Given the description of an element on the screen output the (x, y) to click on. 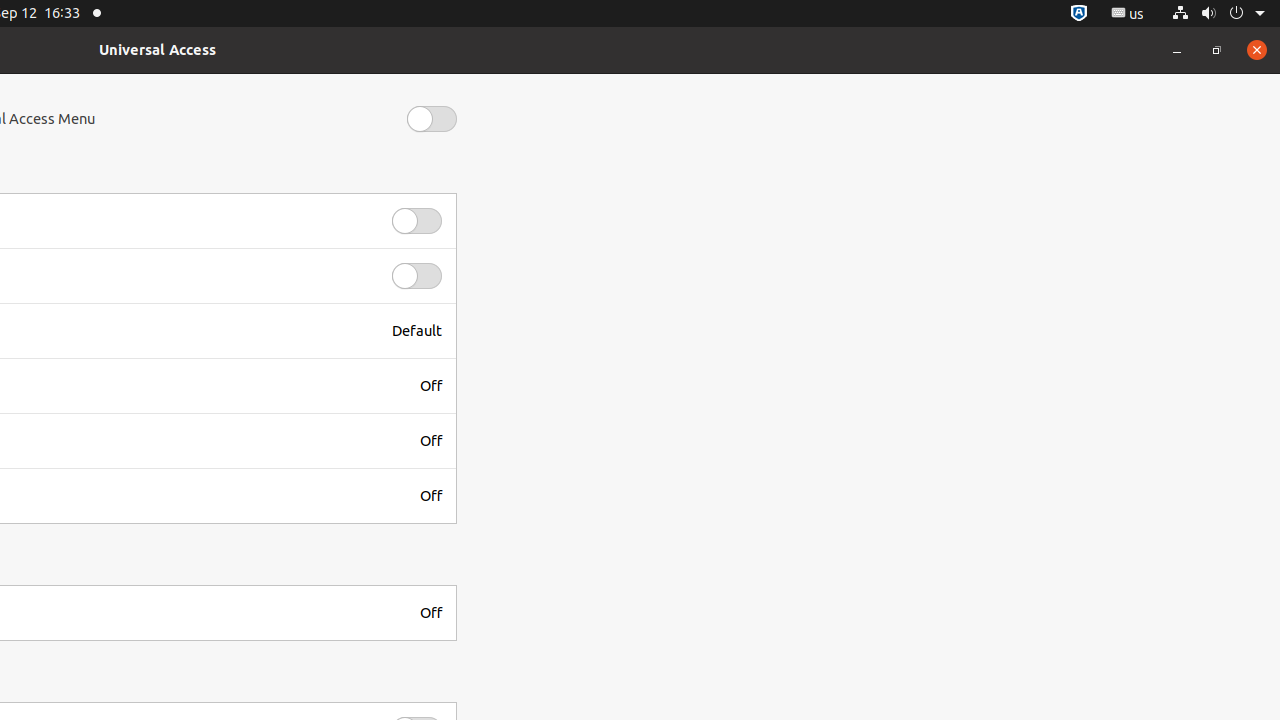
Minimize Element type: push-button (1177, 50)
Universal Access Element type: label (157, 49)
Close Element type: push-button (1257, 50)
